Given the description of an element on the screen output the (x, y) to click on. 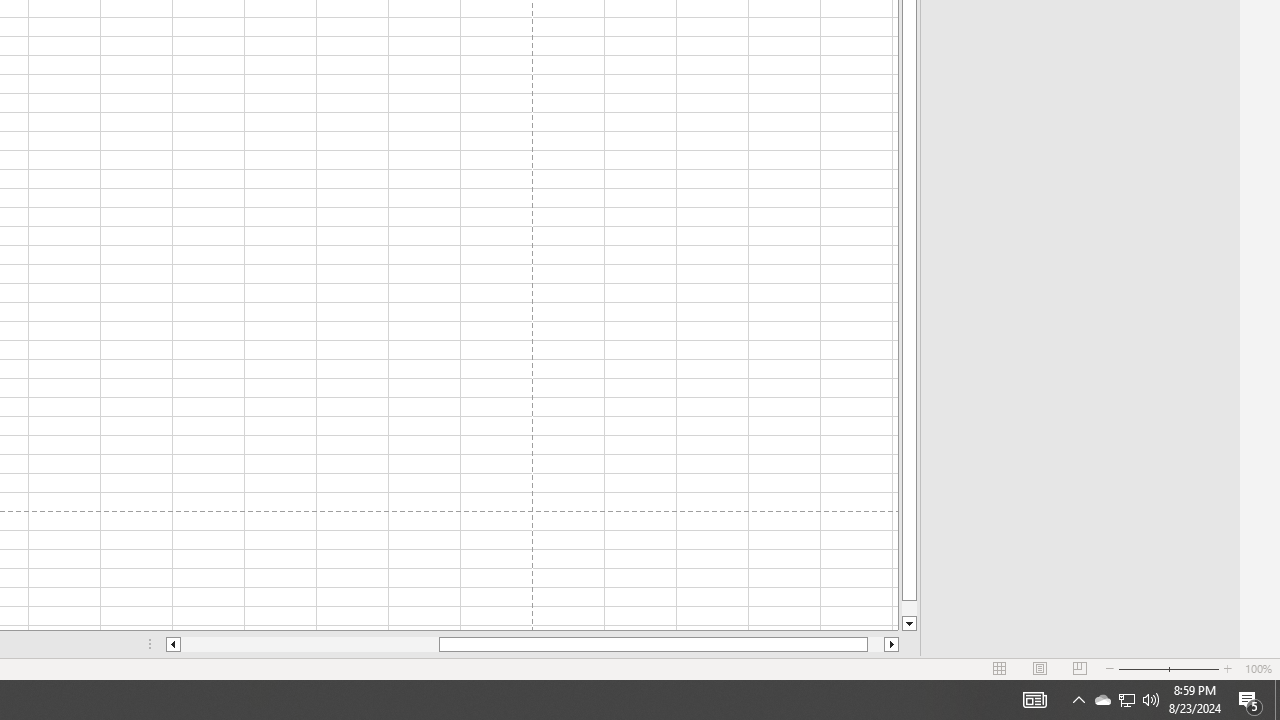
Action Center, 5 new notifications (1250, 699)
